Given the description of an element on the screen output the (x, y) to click on. 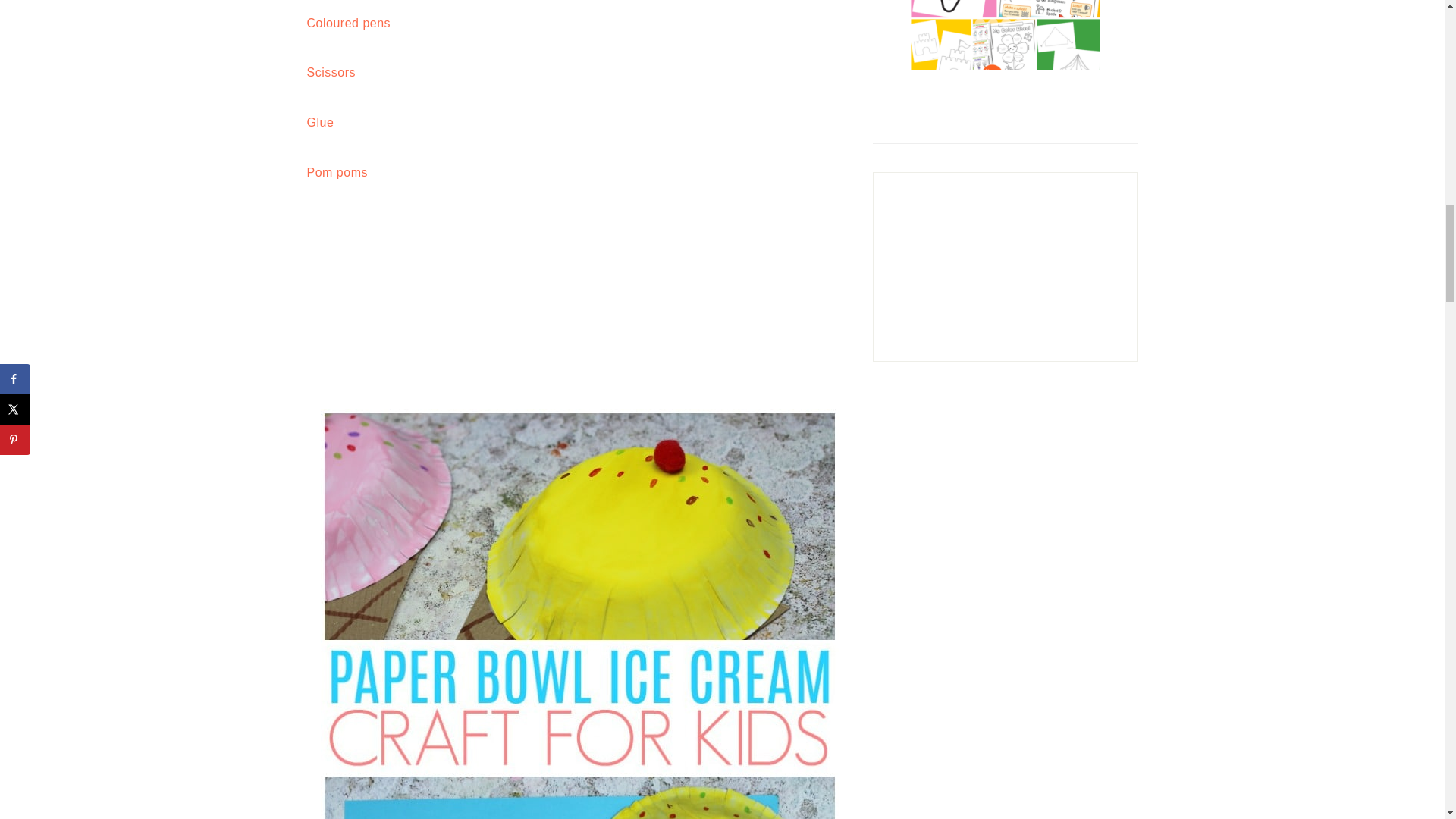
Coloured pens (347, 22)
Scissors (330, 72)
Glue (319, 122)
Pom poms (335, 172)
Free Summer Printables For Kids (1004, 34)
